Given the description of an element on the screen output the (x, y) to click on. 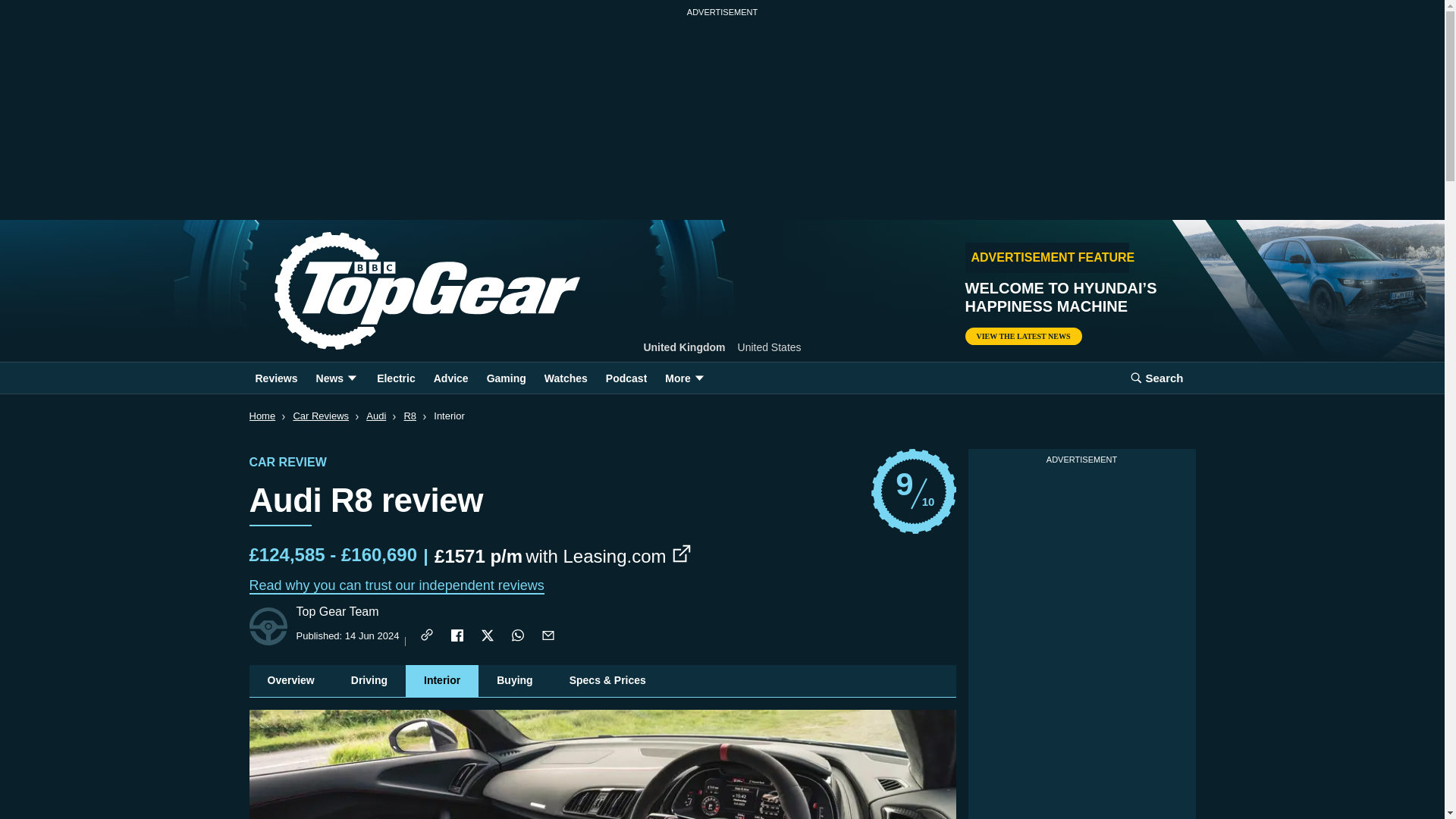
More (685, 377)
Search (1156, 377)
VIEW THE LATEST NEWS (1022, 335)
Gaming (506, 377)
Car Reviews (320, 415)
Watches (566, 377)
R8 (409, 415)
News (337, 377)
United Kingdom (684, 347)
Search (1156, 377)
